Given the description of an element on the screen output the (x, y) to click on. 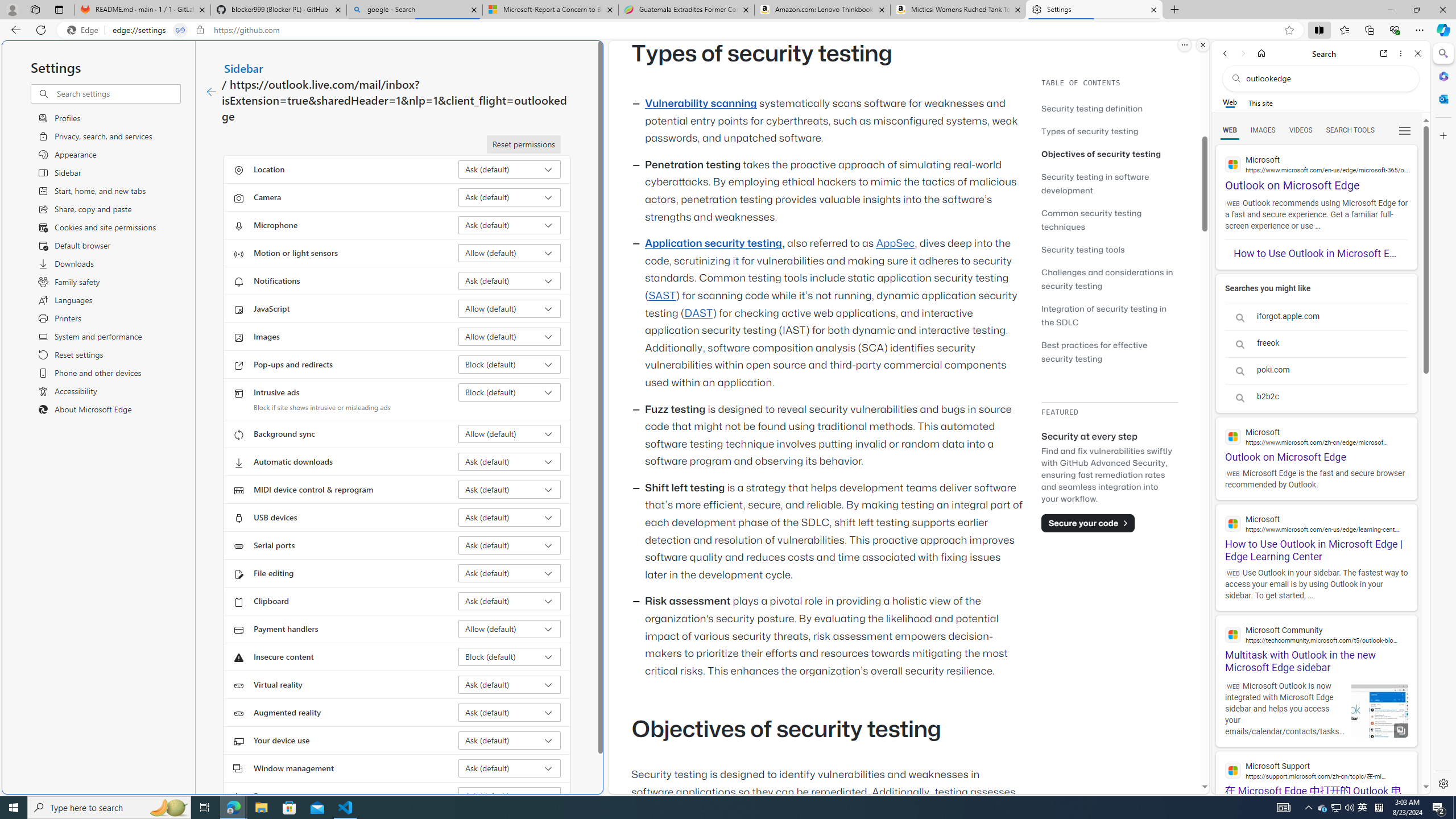
Types of security testing (1089, 130)
iforgot.apple.com (1315, 316)
freeok (1315, 343)
Insecure content Block (default) (509, 656)
Security testing definition (1091, 108)
Location Ask (default) (509, 169)
